Given the description of an element on the screen output the (x, y) to click on. 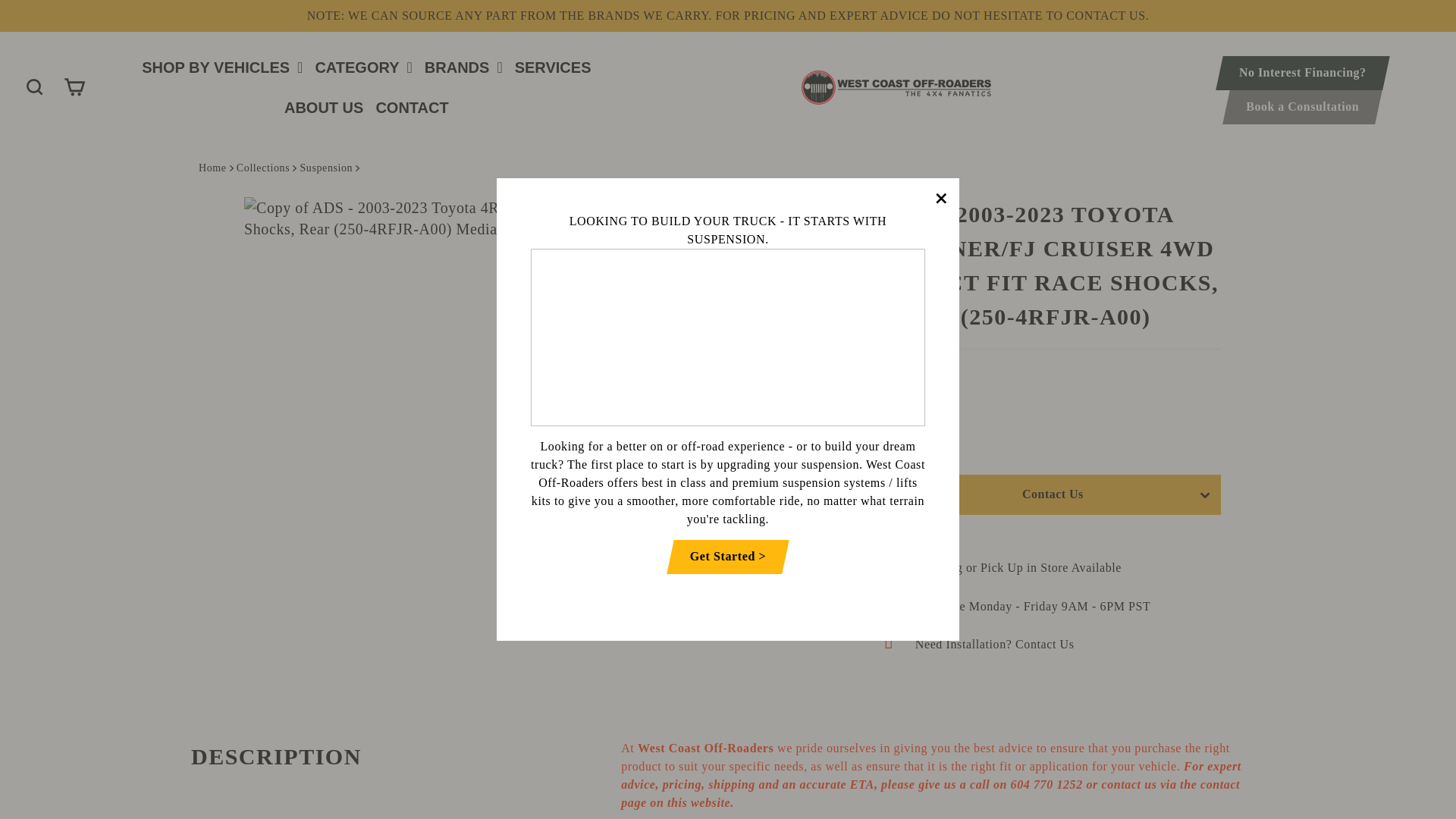
1 (914, 436)
